Given the description of an element on the screen output the (x, y) to click on. 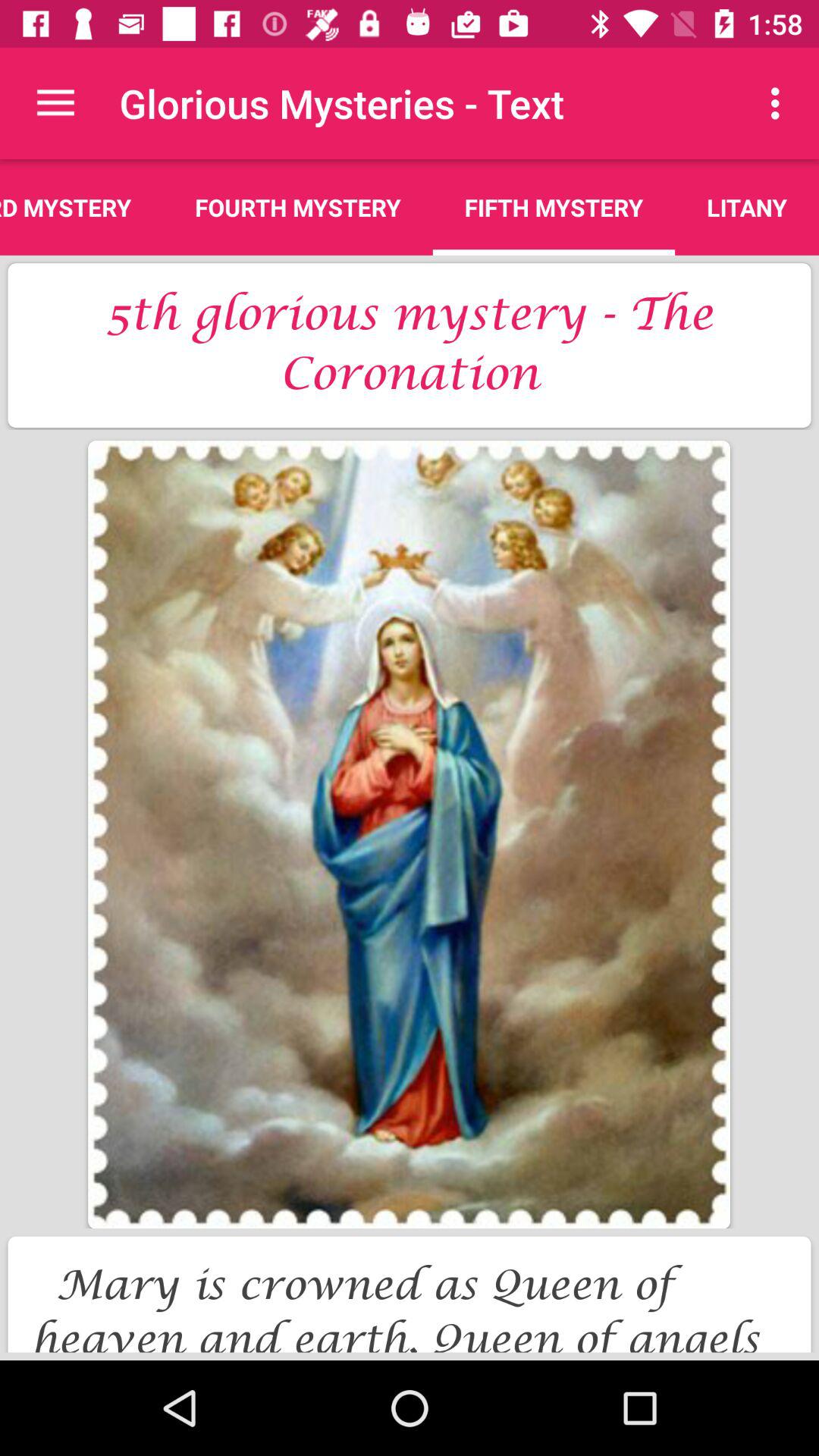
select the item next to the fifth mystery app (747, 207)
